Given the description of an element on the screen output the (x, y) to click on. 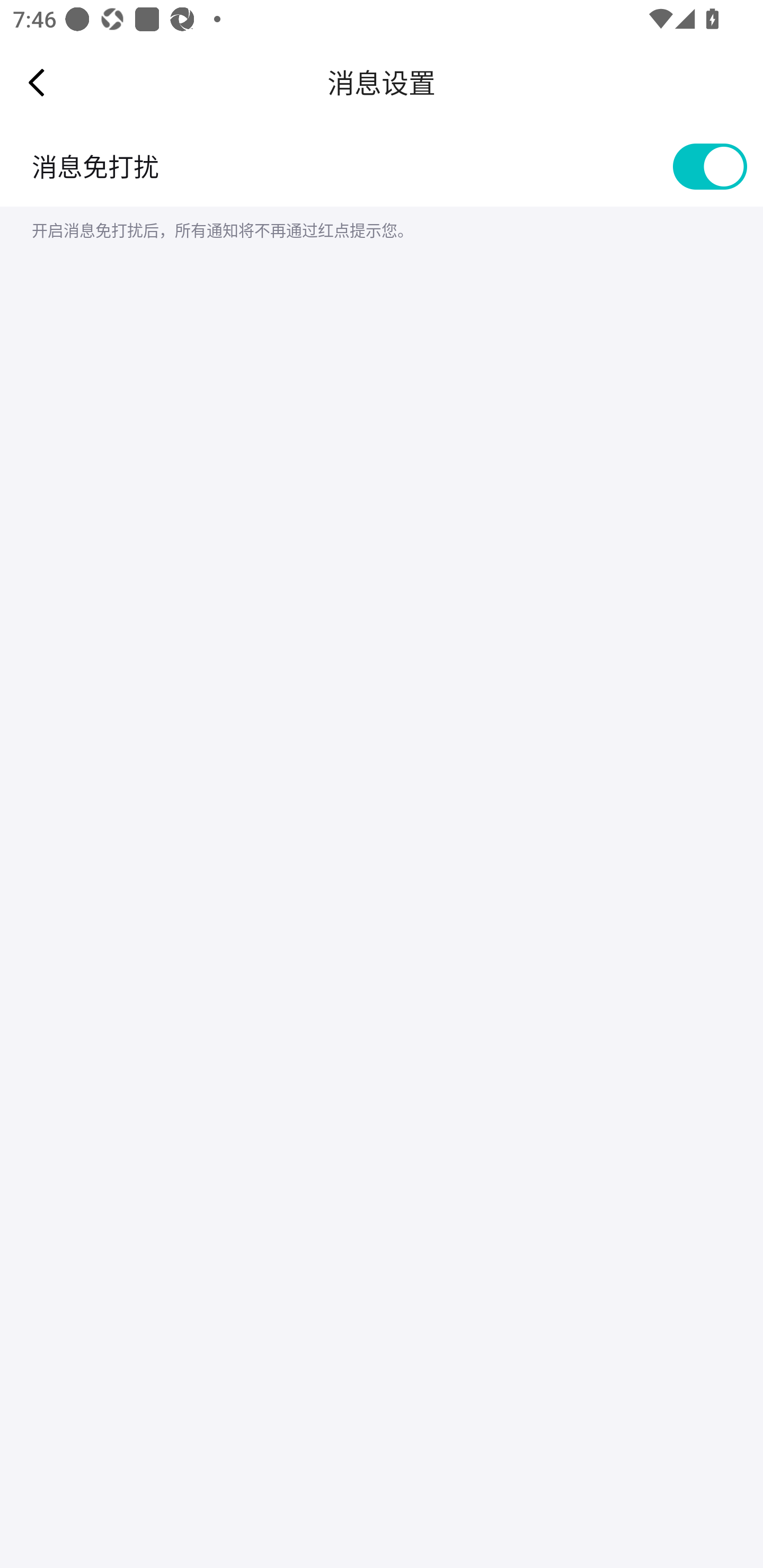
Navigate up (36, 82)
消息免打扰 (381, 166)
